Given the description of an element on the screen output the (x, y) to click on. 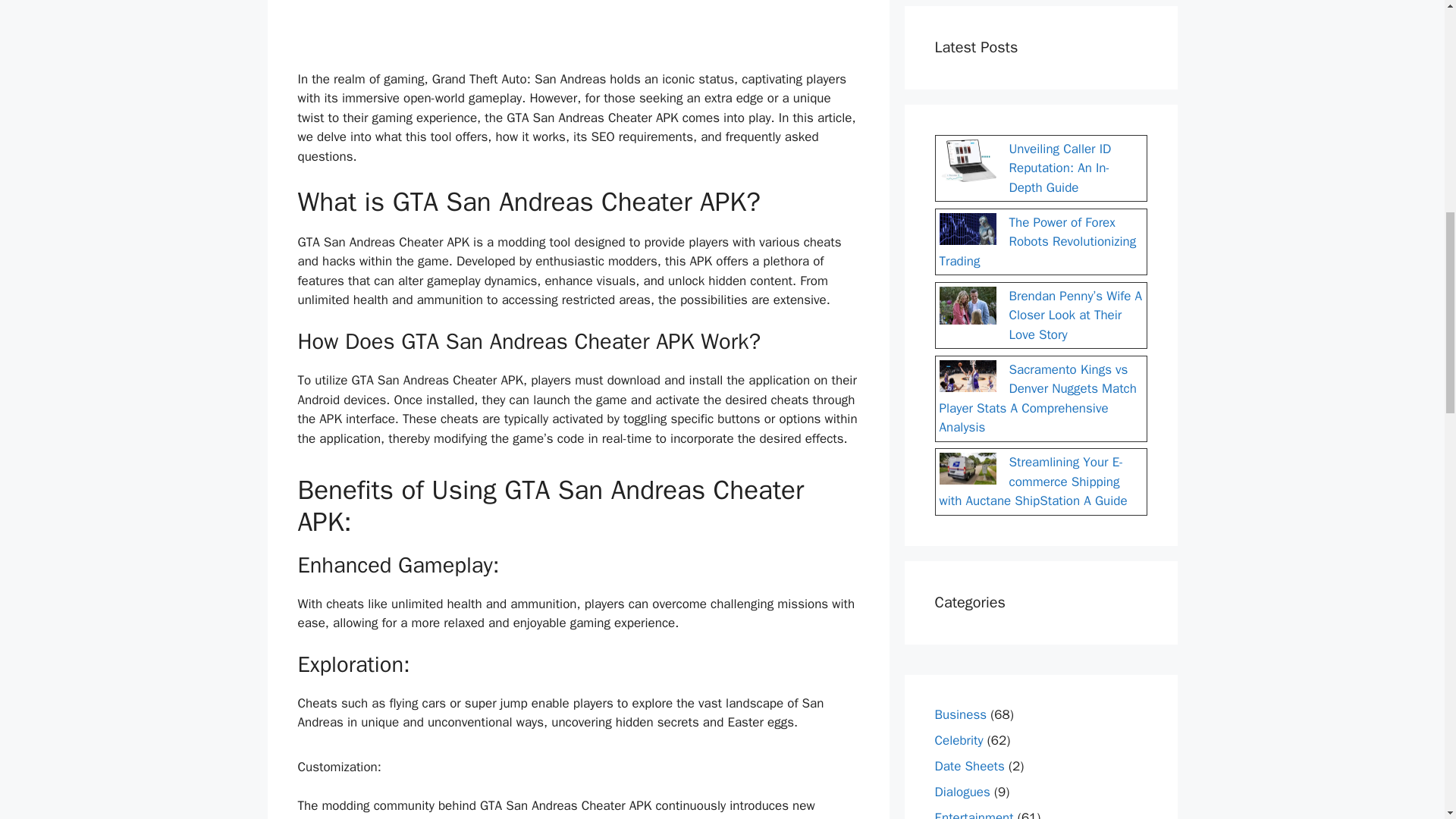
Date Sheets (969, 765)
Advertisement (578, 31)
Scroll back to top (1406, 720)
Celebrity (958, 740)
Unveiling Caller ID Reputation: An In-Depth Guide (1059, 167)
Business (960, 714)
Entertainment (973, 814)
Dialogues (962, 791)
The Power of Forex Robots Revolutionizing Trading (1037, 240)
